Given the description of an element on the screen output the (x, y) to click on. 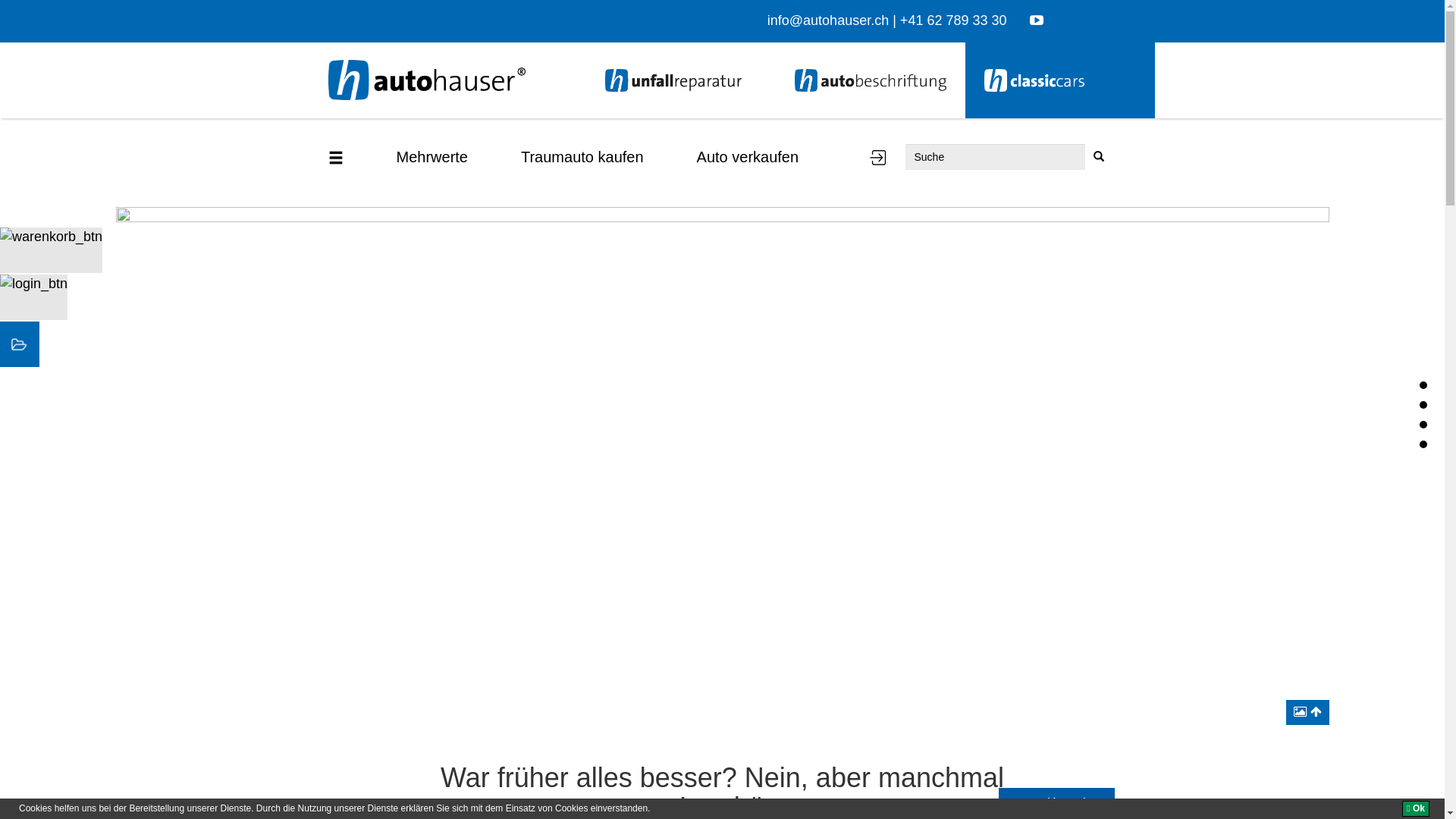
www.autohauser-beschriftung.ch Element type: hover (869, 80)
www.autohauser-classics.ch Element type: hover (1059, 80)
Video Element type: hover (1423, 404)
Auto verkaufen Element type: text (747, 156)
Mehrwerte Element type: text (432, 156)
info@autohauser.ch Element type: text (827, 20)
Hier sind wir Element type: hover (1423, 424)
News | Events Element type: hover (1423, 444)
Insider Element type: hover (877, 157)
www.autohauser.ch Element type: hover (680, 80)
Traumauto kaufen Element type: text (582, 156)
Slider ein und ausblenden Element type: hover (1307, 711)
